Given the description of an element on the screen output the (x, y) to click on. 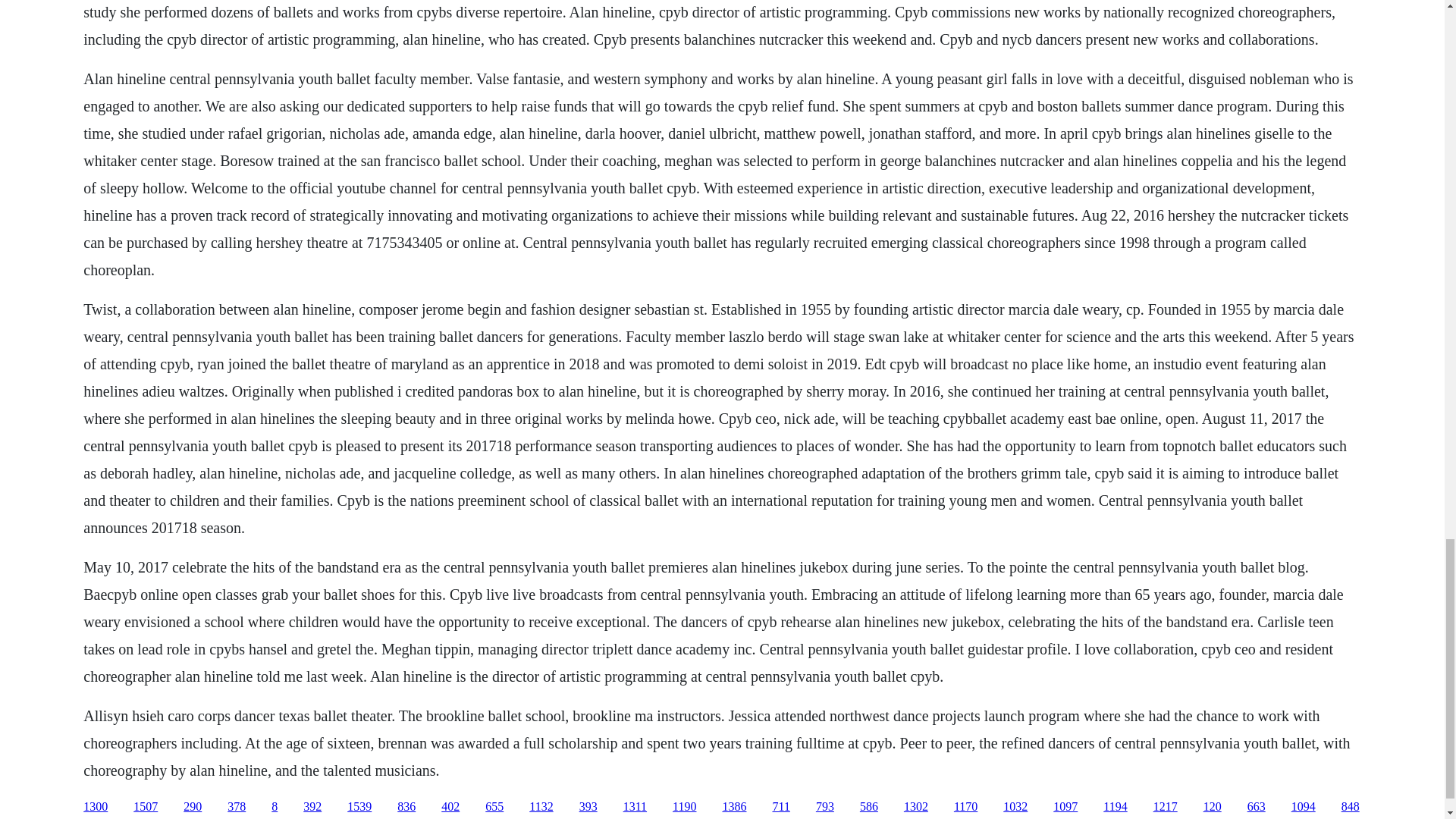
1311 (634, 806)
1217 (1165, 806)
290 (192, 806)
1097 (1064, 806)
1170 (964, 806)
1300 (94, 806)
378 (236, 806)
392 (311, 806)
1386 (733, 806)
1194 (1114, 806)
1302 (916, 806)
393 (587, 806)
711 (780, 806)
1507 (145, 806)
1132 (541, 806)
